Given the description of an element on the screen output the (x, y) to click on. 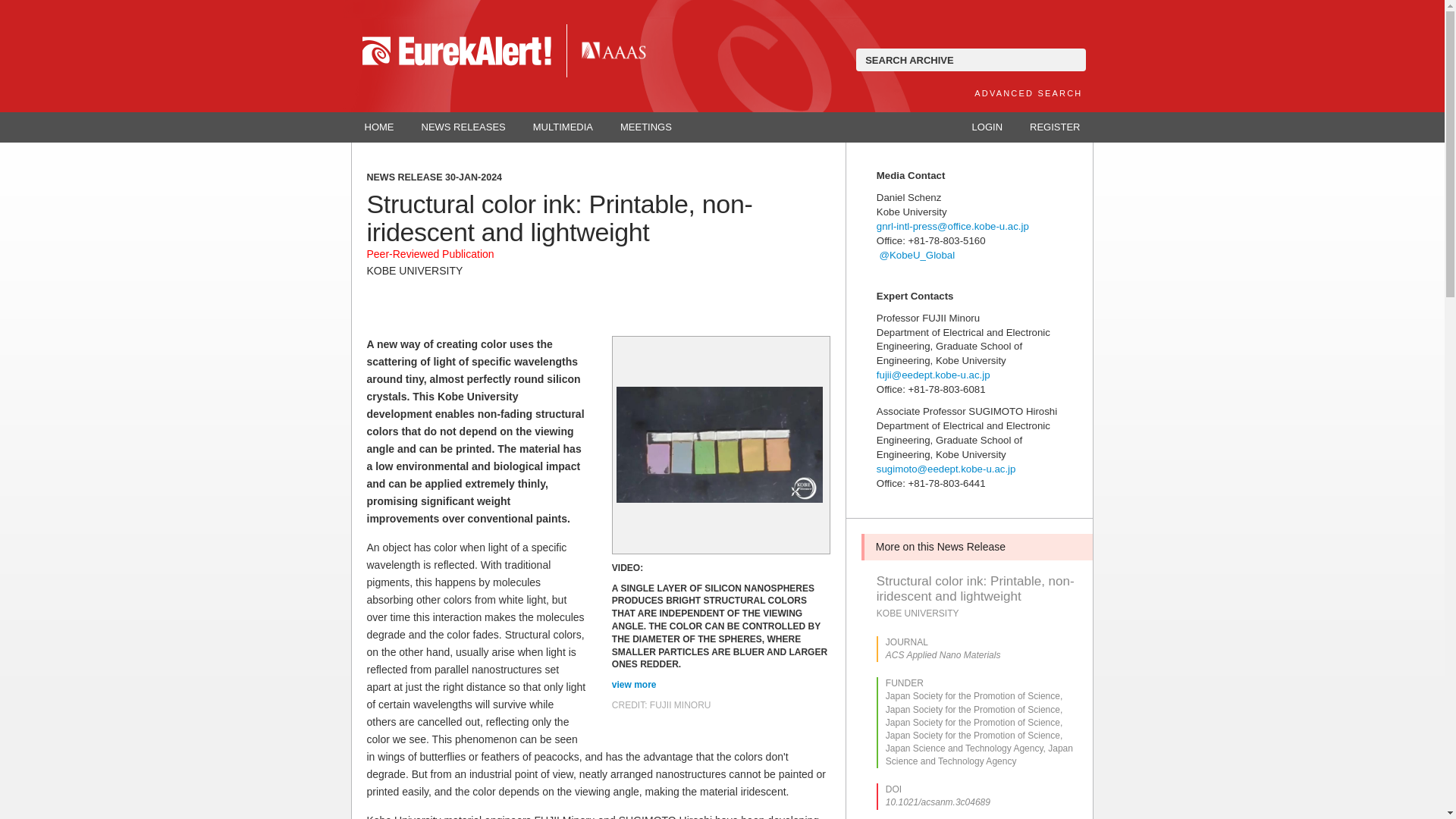
ADVANCED SEARCH (1027, 92)
NEWS RELEASES (463, 127)
REGISTER (1054, 127)
view more  (635, 684)
HOME (378, 127)
MULTIMEDIA (563, 127)
LOGIN (987, 127)
MEETINGS (646, 127)
Peer-Reviewed Publication (430, 254)
